Given the description of an element on the screen output the (x, y) to click on. 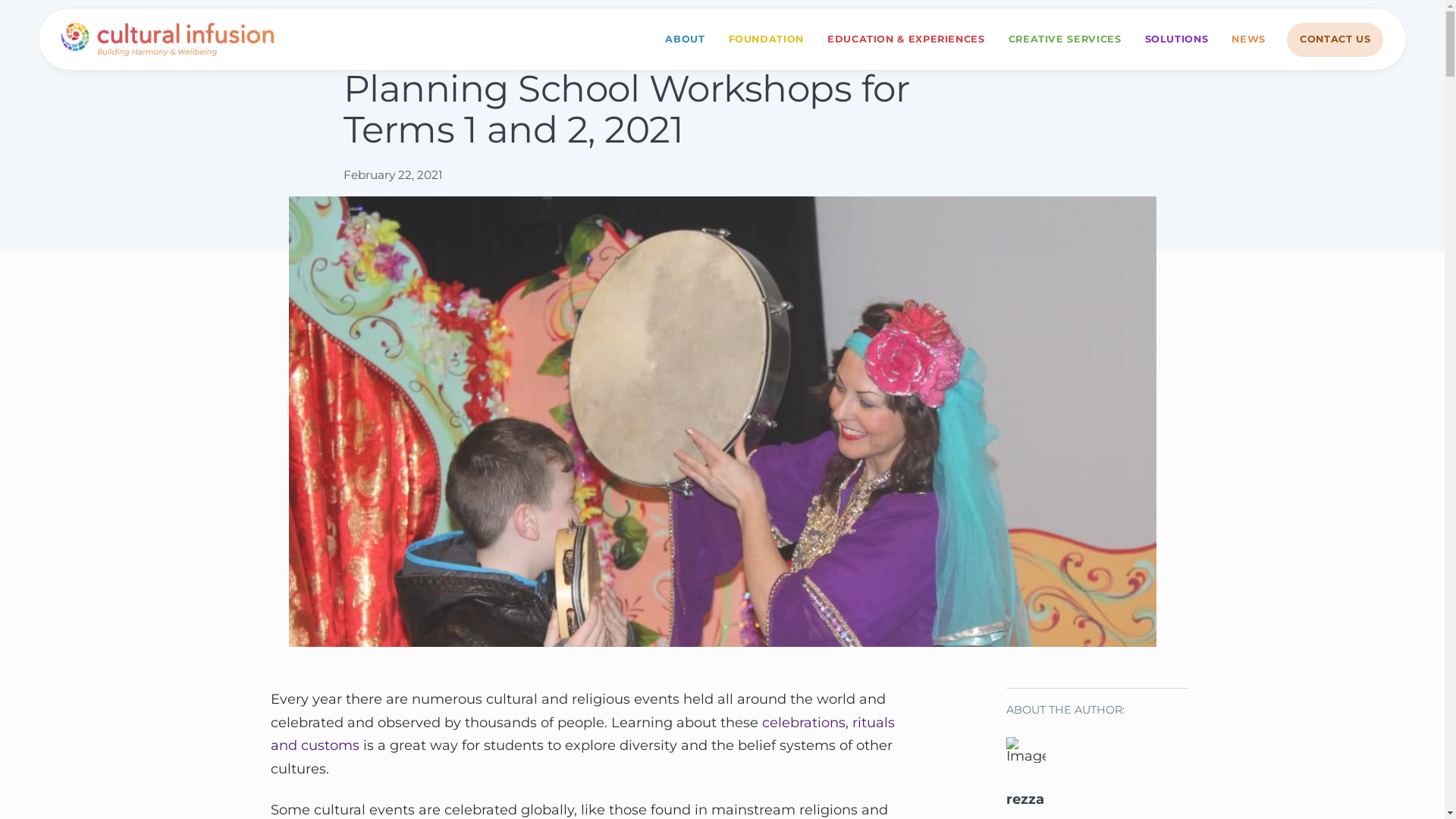
ABOUT Element type: text (684, 39)
Back to Blog Element type: text (393, 39)
FOUNDATION Element type: text (765, 39)
CREATIVE SERVICES Element type: text (1064, 39)
EDUCATION & EXPERIENCES Element type: text (904, 39)
celebrations, rituals and customs Element type: text (581, 734)
NEWS Element type: text (1248, 39)
SOLUTIONS Element type: text (1175, 39)
CONTACT US Element type: text (1334, 39)
